Given the description of an element on the screen output the (x, y) to click on. 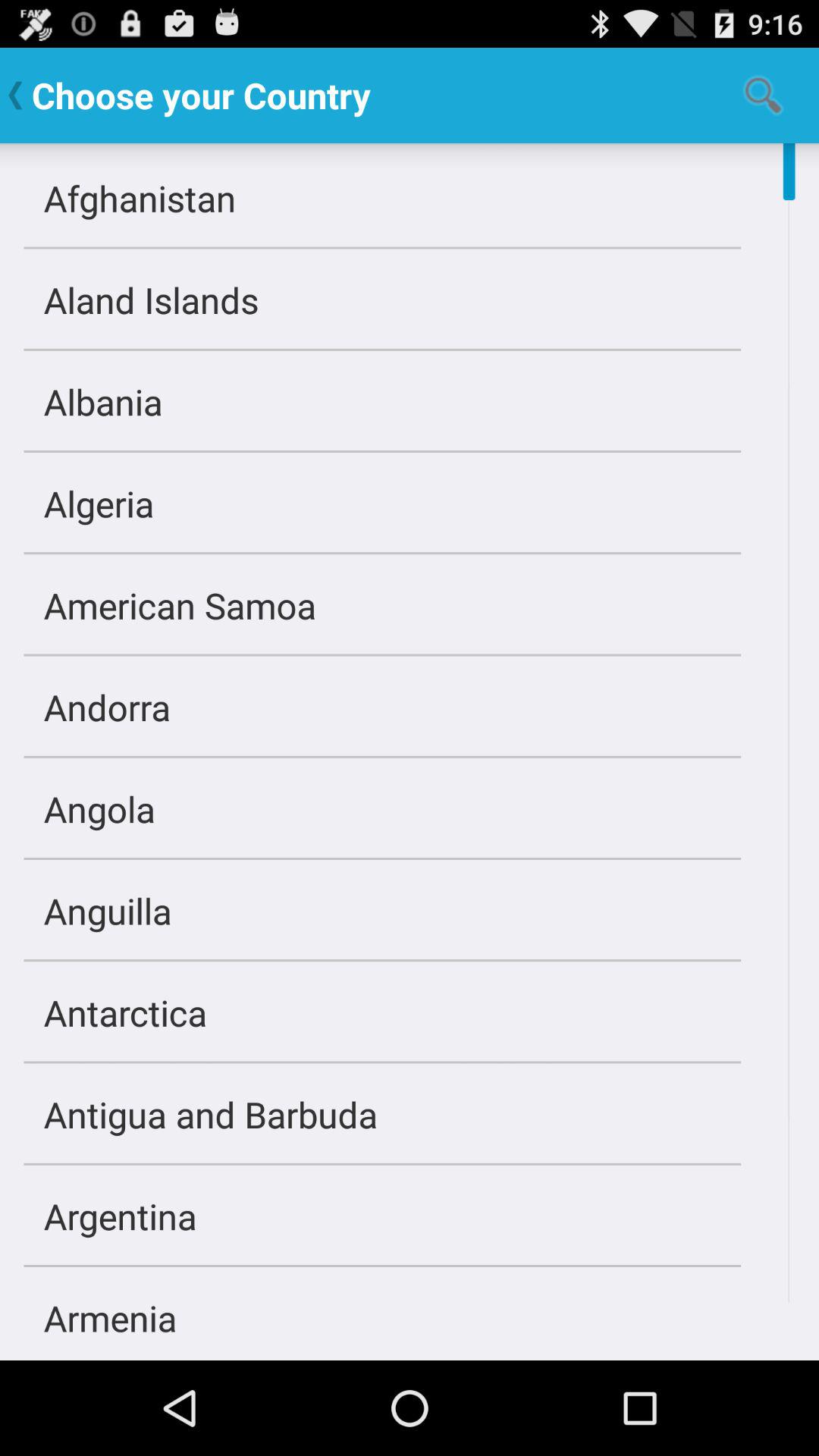
line below the text aland islands (382, 349)
